Given the description of an element on the screen output the (x, y) to click on. 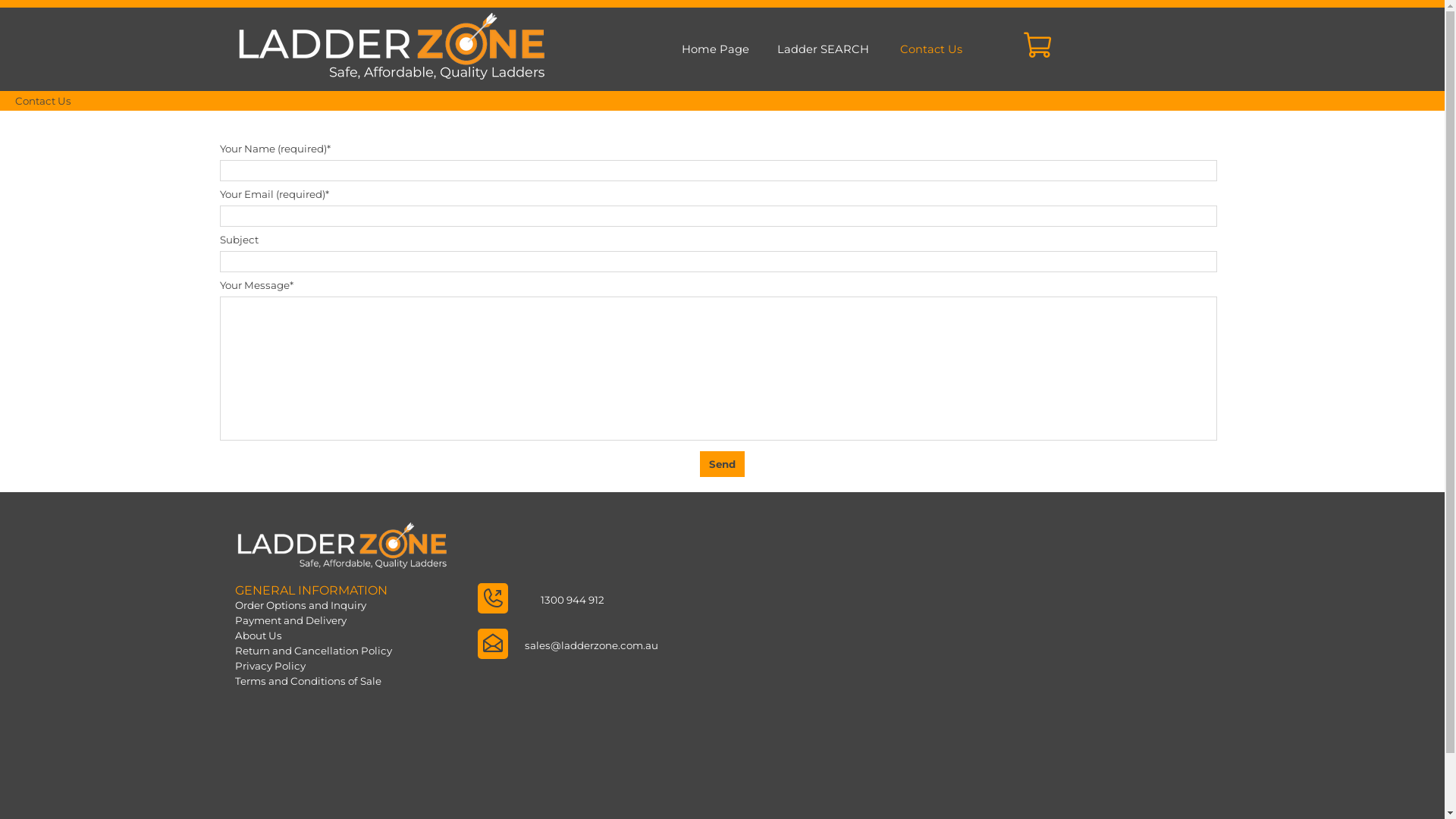
Return and Cancellation Policy Element type: text (314, 650)
Payment and Delivery Element type: text (314, 620)
Privacy Policy Element type: text (314, 665)
Order Options and Inquiry Element type: text (314, 604)
About Us Element type: text (314, 635)
Ladderzone Logo Element type: hover (390, 64)
Home Page Element type: text (714, 48)
sales@ladderzone.com.au Element type: text (591, 645)
Ladderzone Logo Element type: hover (341, 557)
Contact Us Element type: text (930, 48)
Terms and Conditions of Sale Element type: text (314, 680)
1300 944 912 Element type: text (572, 599)
